Given the description of an element on the screen output the (x, y) to click on. 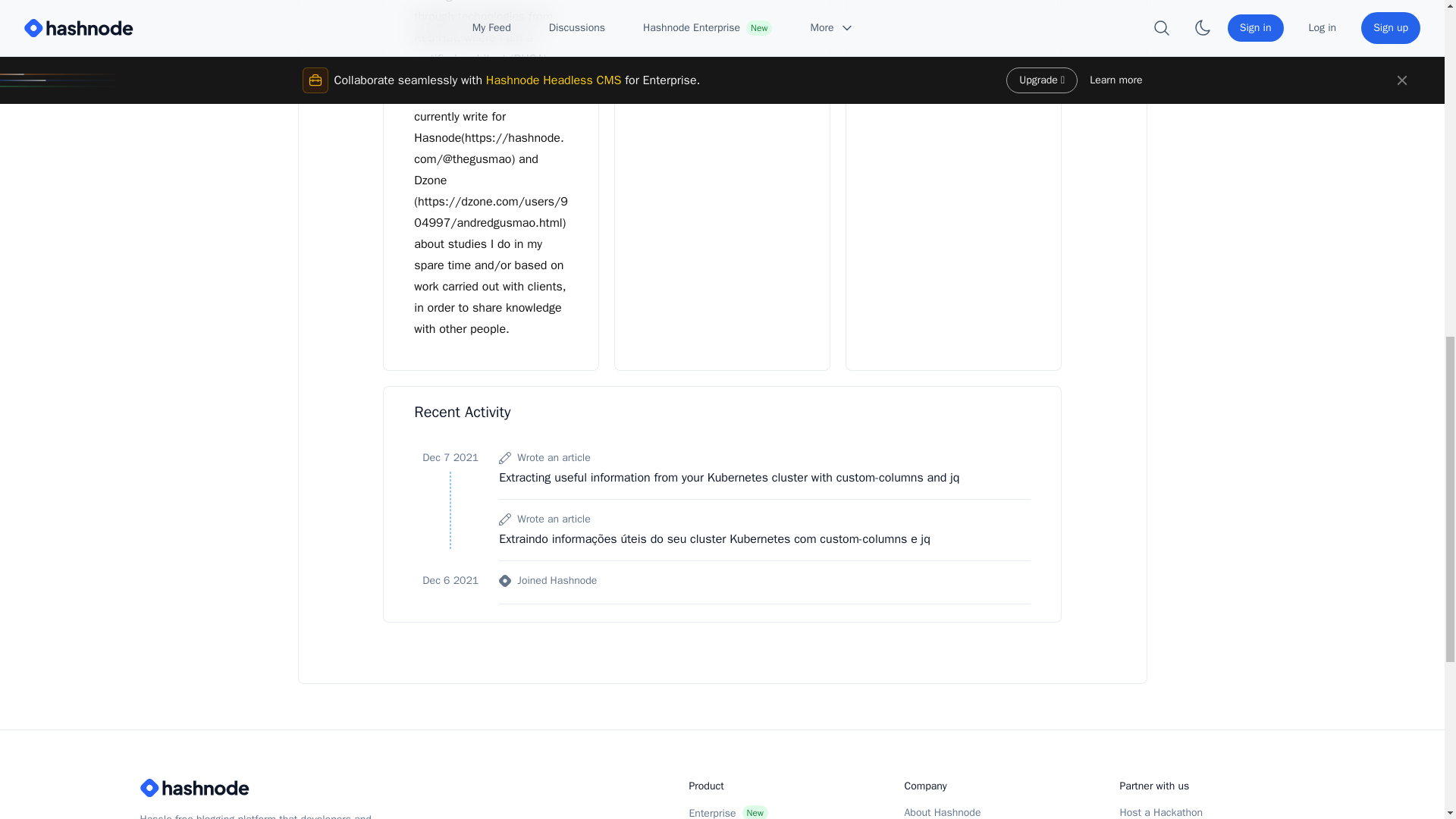
Hashnode (260, 787)
